Given the description of an element on the screen output the (x, y) to click on. 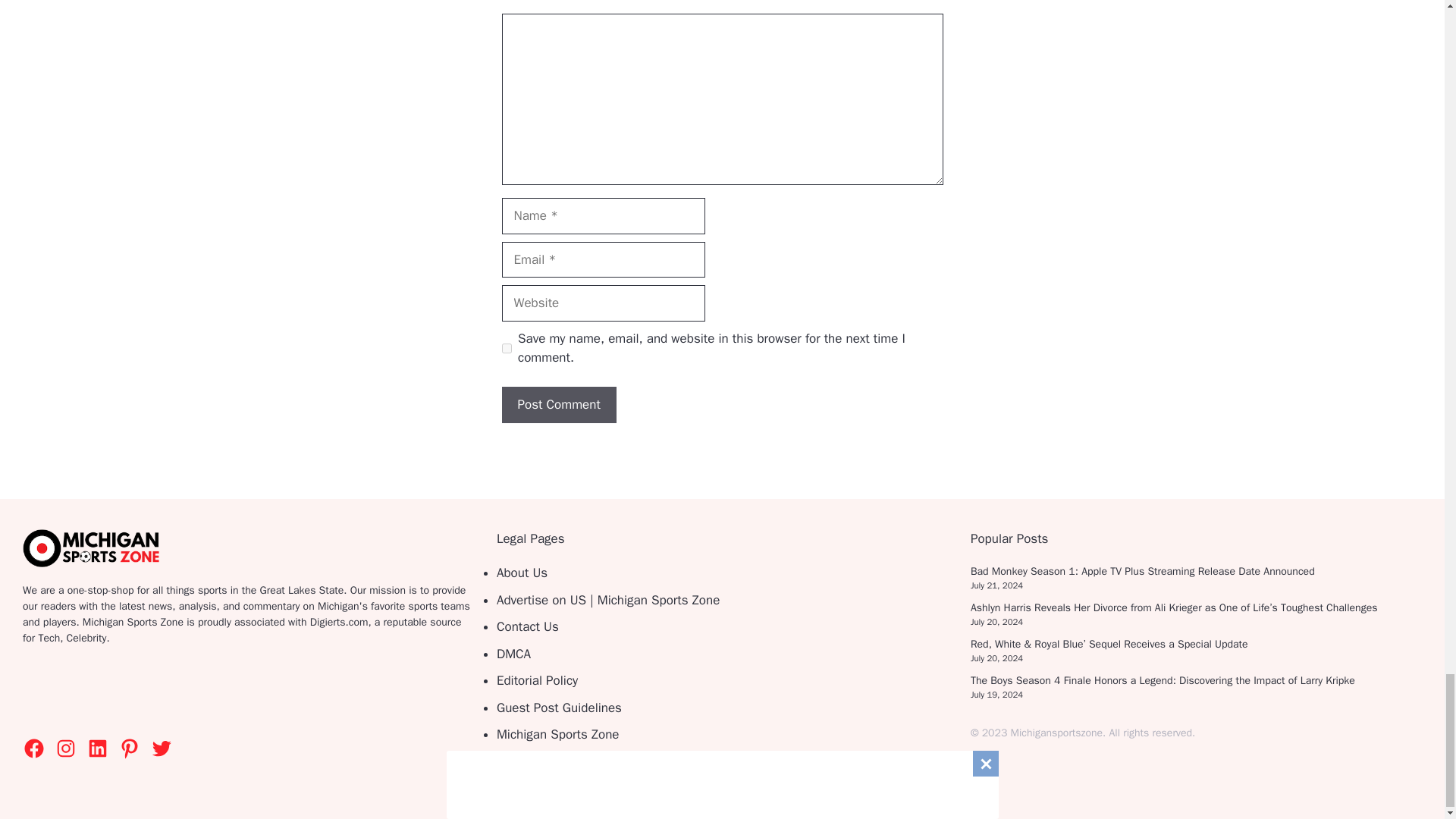
yes (507, 347)
google-news (122, 691)
Post Comment (558, 404)
